Given the description of an element on the screen output the (x, y) to click on. 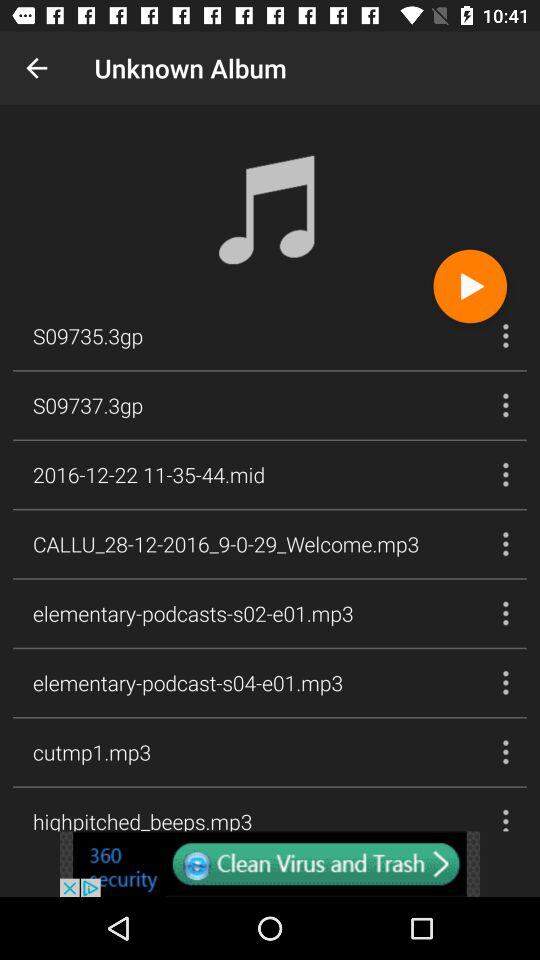
play the playlist (470, 286)
